Given the description of an element on the screen output the (x, y) to click on. 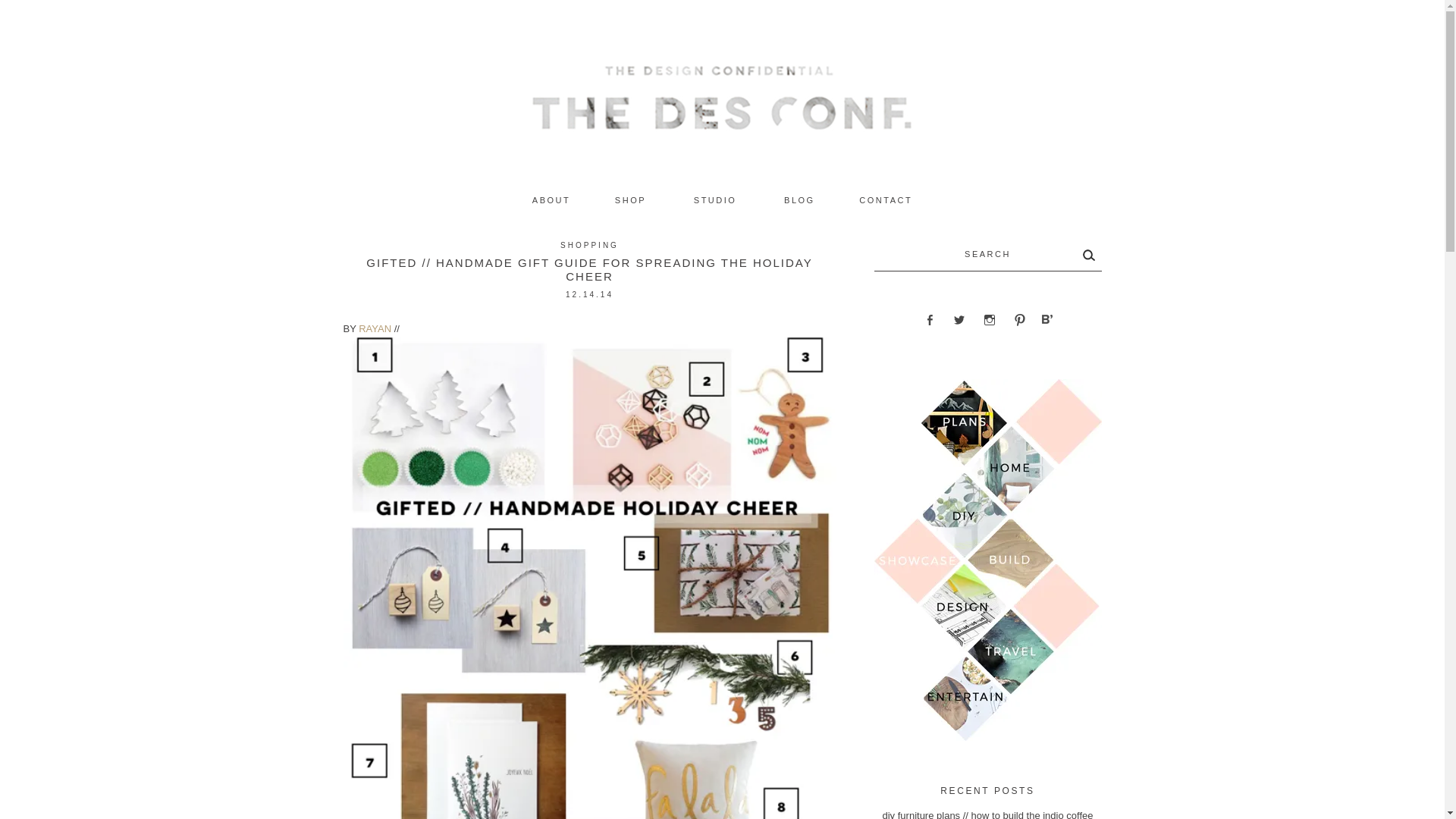
CONTACT (885, 200)
SEARCH (986, 255)
The Design Confidential (949, 141)
SHOP (630, 200)
ABOUT (551, 200)
SHOPPING (589, 244)
SEARCH (986, 255)
STUDIO (714, 200)
Posts by Rayan (374, 328)
RAYAN (374, 328)
BLOG (798, 200)
